Given the description of an element on the screen output the (x, y) to click on. 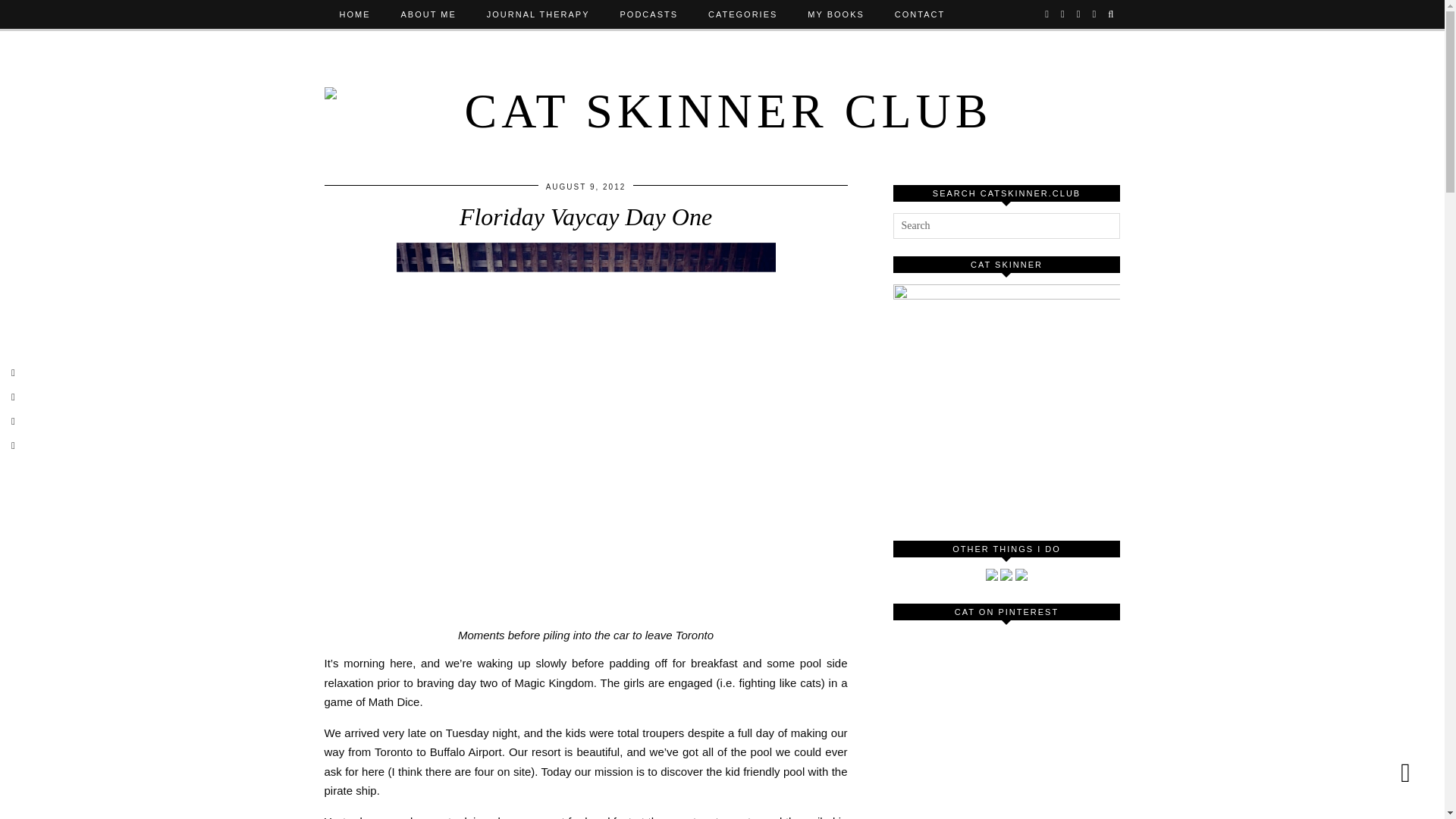
CATEGORIES (742, 14)
PODCASTS (649, 14)
CONTACT (919, 14)
ABOUT ME (427, 14)
Cat Skinner Club (722, 101)
JOURNAL THERAPY (538, 14)
HOME (354, 14)
MY BOOKS (835, 14)
